Given the description of an element on the screen output the (x, y) to click on. 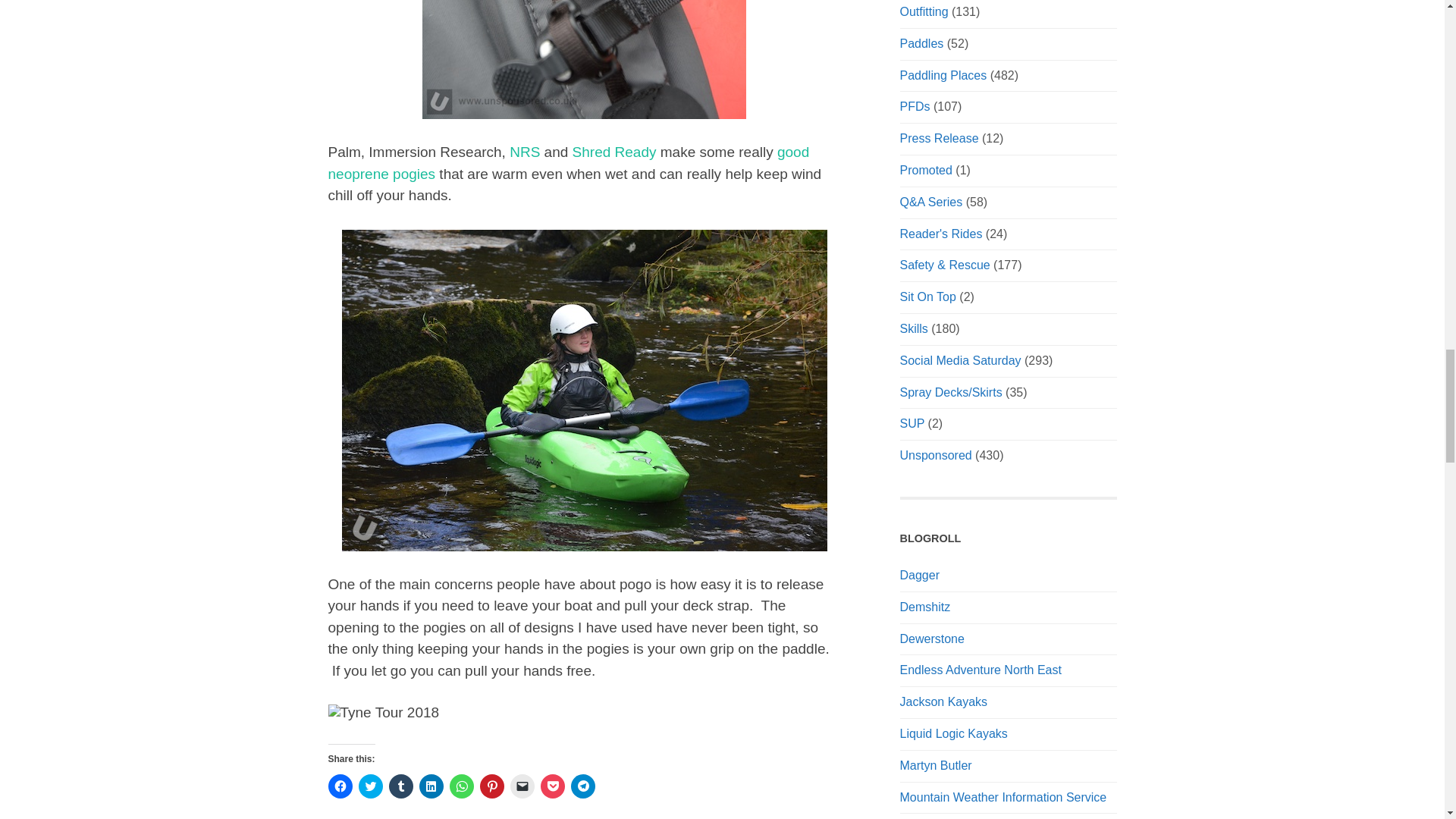
Click to share on Tumblr (400, 785)
Click to share on Telegram (582, 785)
Click to share on LinkedIn (430, 785)
Click to share on Facebook (339, 785)
Click to share on Twitter (369, 785)
Click to email a link to a friend (521, 785)
Click to share on Pinterest (491, 785)
Click to share on WhatsApp (460, 785)
Click to share on Pocket (552, 785)
